Given the description of an element on the screen output the (x, y) to click on. 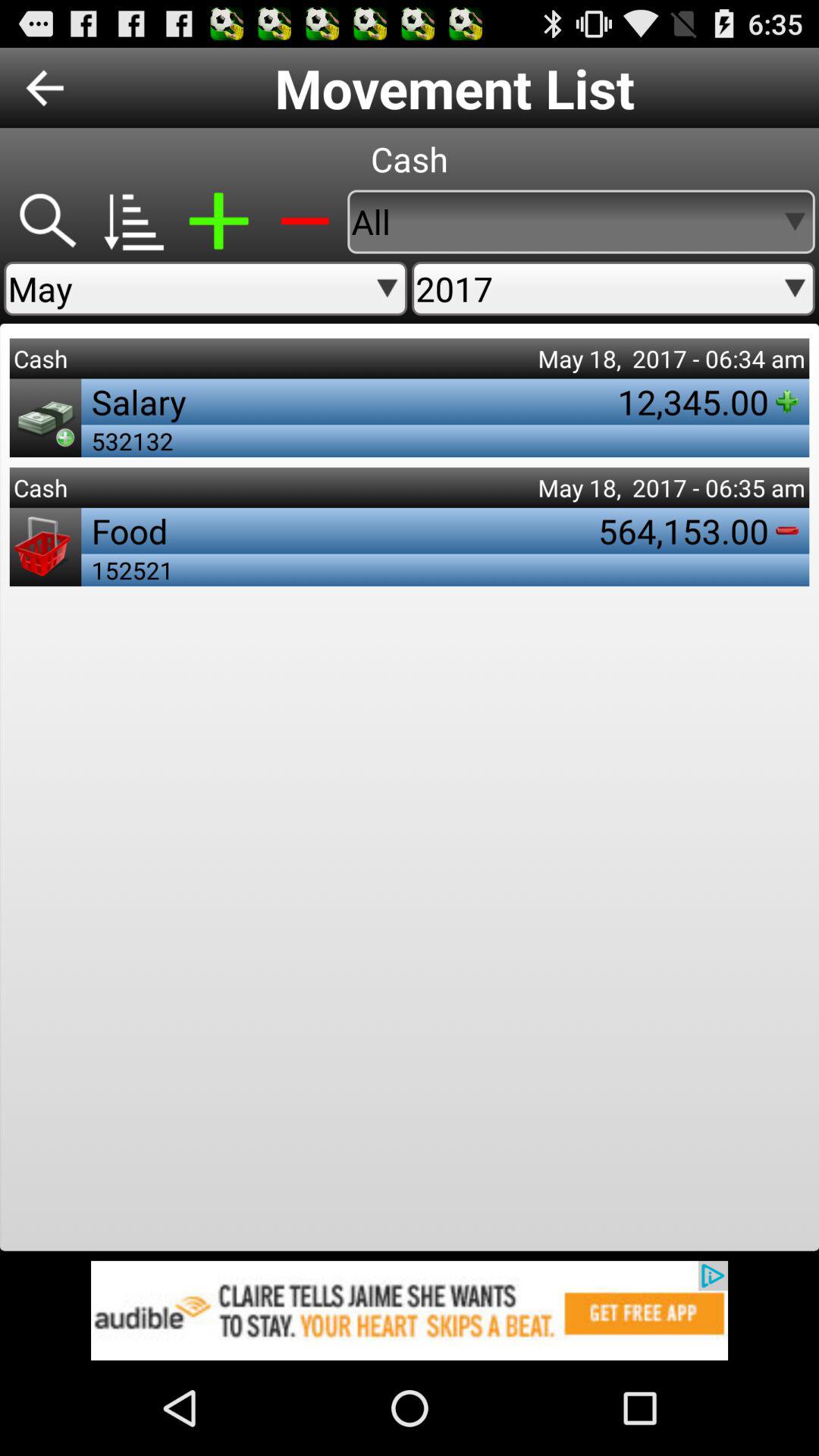
because back devicer (46, 221)
